Given the description of an element on the screen output the (x, y) to click on. 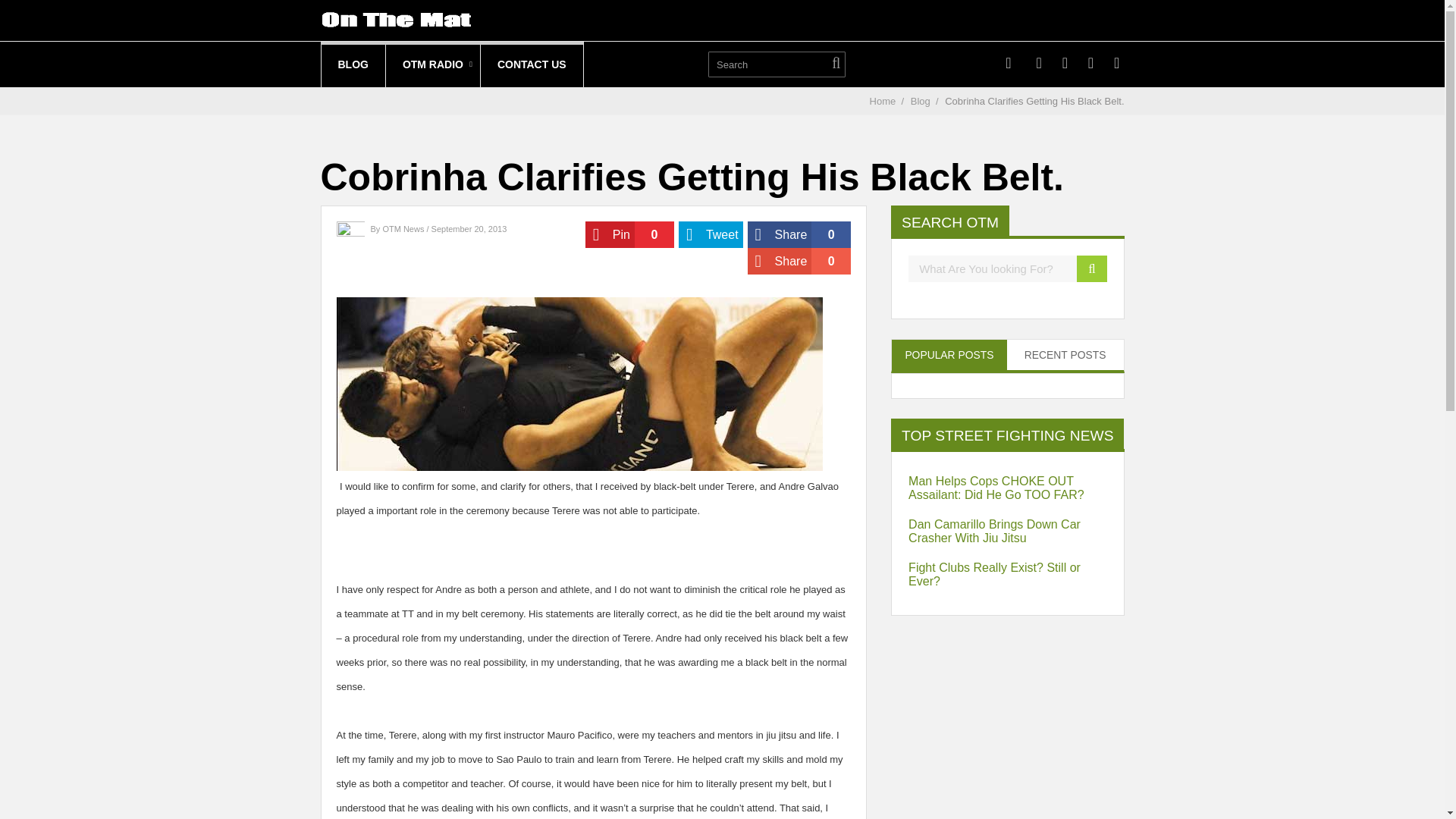
CONTACT US (531, 63)
BLOG (629, 234)
OTM News (353, 63)
Fight Clubs Really Exist? Still or Ever? (799, 234)
RECENT POSTS (403, 228)
Dan Camarillo Brings Down Car Crasher With Jiu Jitsu (1007, 574)
Cobrinha Clarifies Getting His Black Belt. (1064, 354)
OTM RADIO (799, 261)
Home (1007, 531)
Man Helps Cops CHOKE OUT Assailant: Did He Go TOO FAR? (1034, 101)
Tweet (432, 63)
POPULAR POSTS (882, 101)
